Given the description of an element on the screen output the (x, y) to click on. 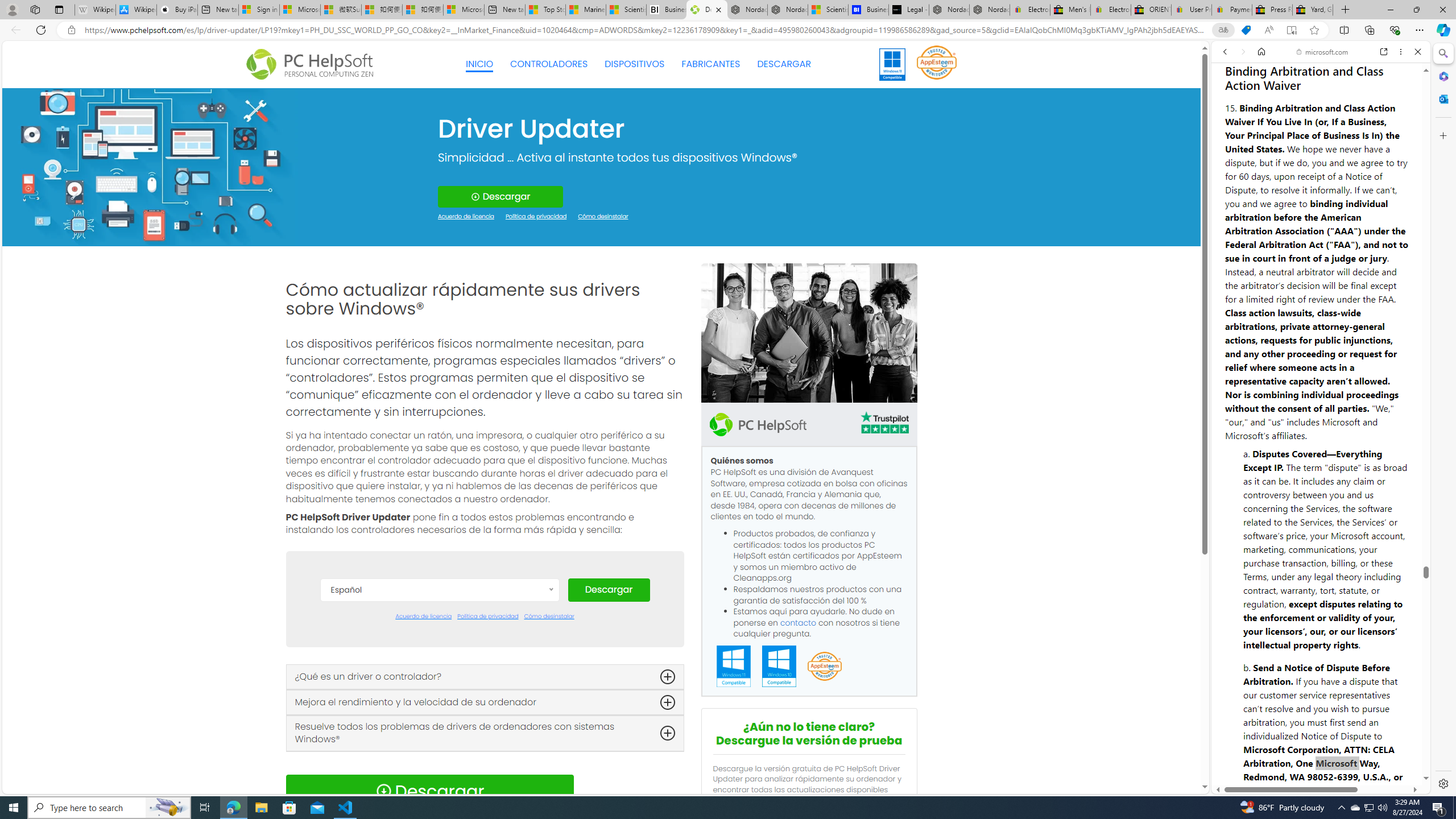
Windows 10 Compatible (778, 666)
Windows 11 (892, 64)
App Esteem (823, 666)
App Esteem (823, 666)
DISPOSITIVOS (634, 64)
